Given the description of an element on the screen output the (x, y) to click on. 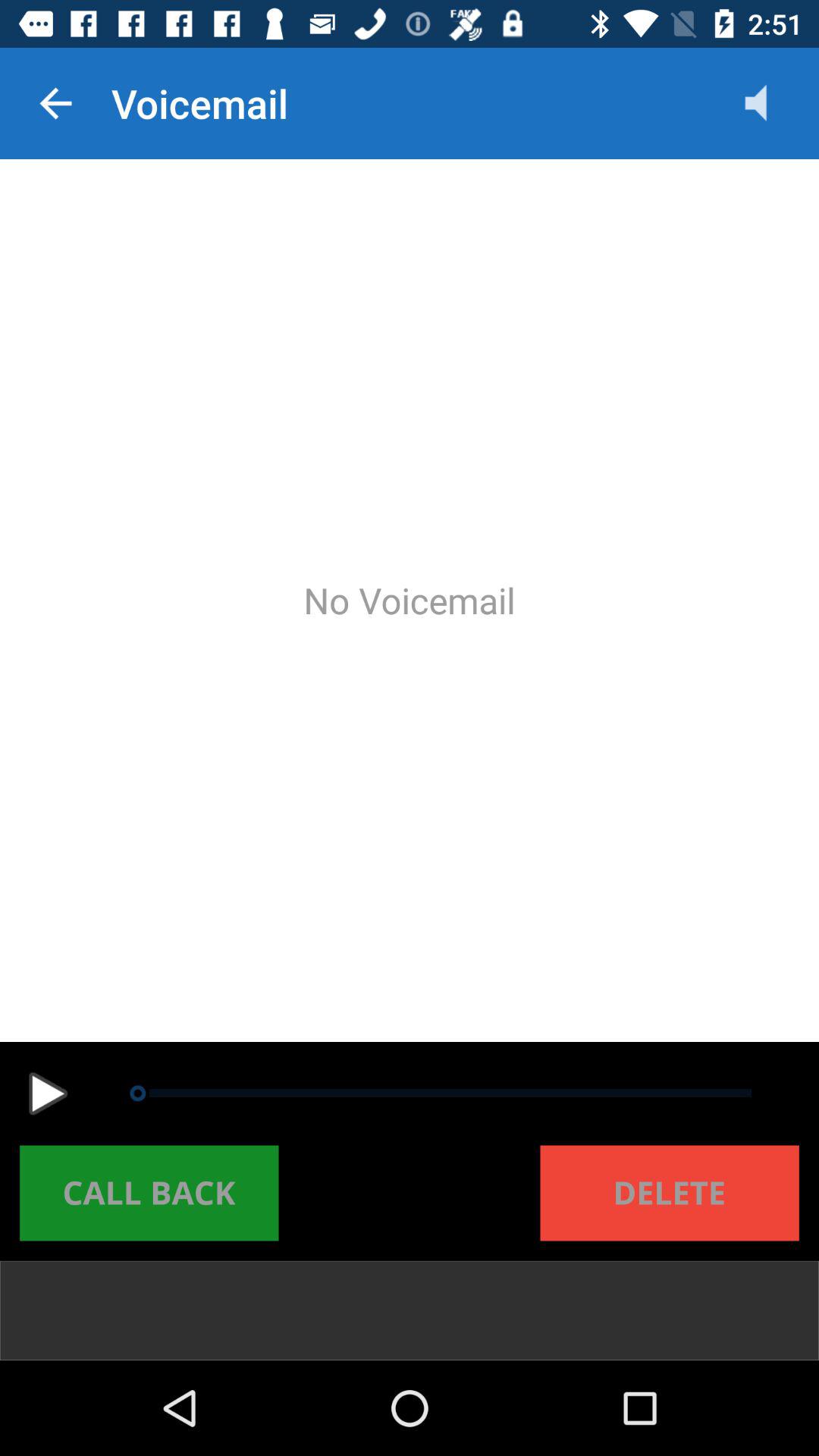
swipe to call back (148, 1193)
